Given the description of an element on the screen output the (x, y) to click on. 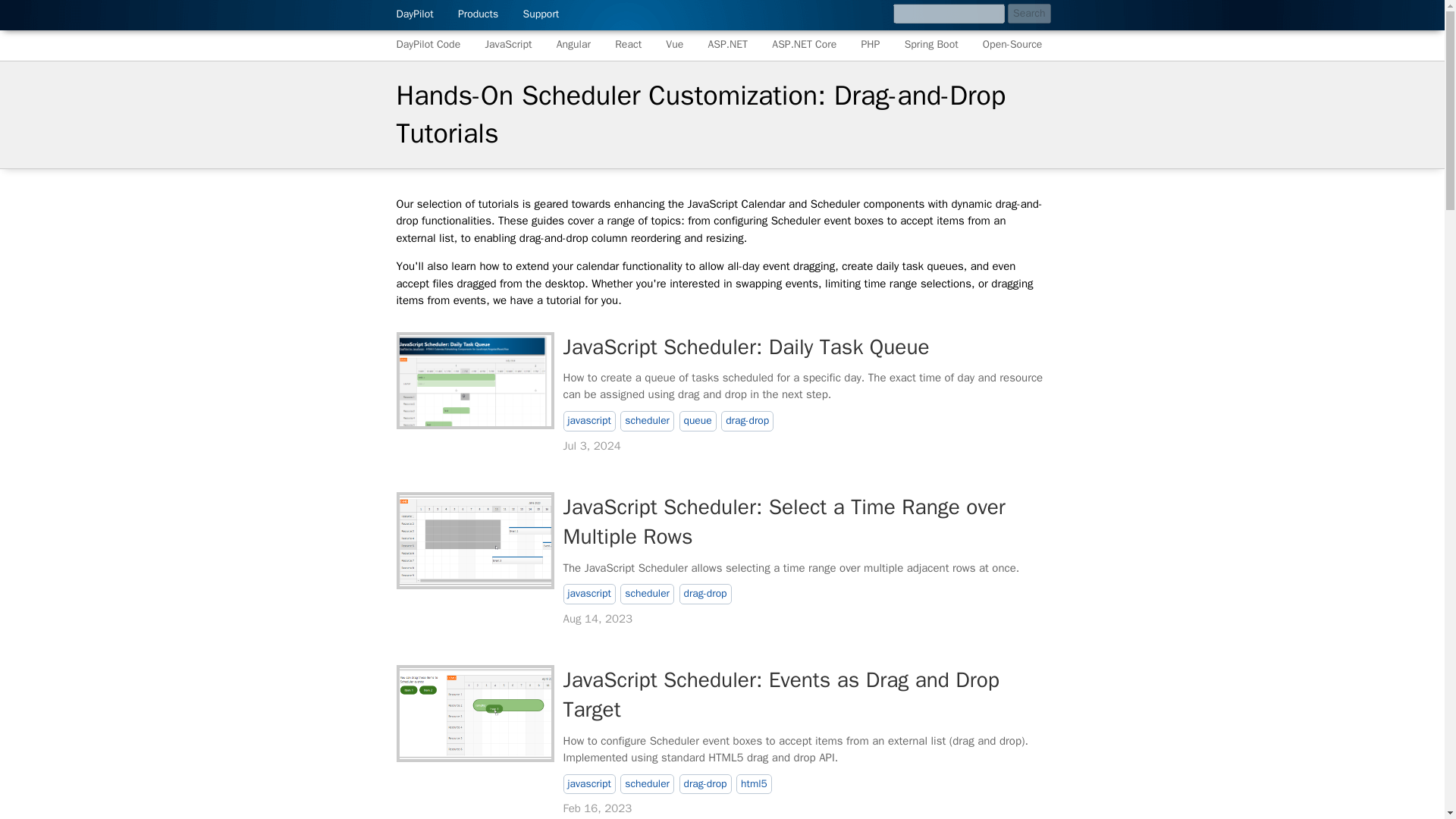
ASP.NET Tutorials and Source Code (727, 44)
drag-drop (705, 593)
Products (477, 14)
drag-drop (746, 421)
ASP.NET (727, 44)
Open-Source Tutorials and Source Code (1012, 44)
ASP.NET Core Tutorials and Source Code (803, 44)
JavaScript Scheduler: Events as Drag and Drop Target (780, 694)
scheduler (647, 593)
Scheduling Tutorials and Source Code (428, 44)
Open-Source (1012, 44)
javascript (588, 593)
drag-drop (705, 783)
Spring Boot Tutorials and Source Code (931, 44)
JavaScript (507, 44)
